Given the description of an element on the screen output the (x, y) to click on. 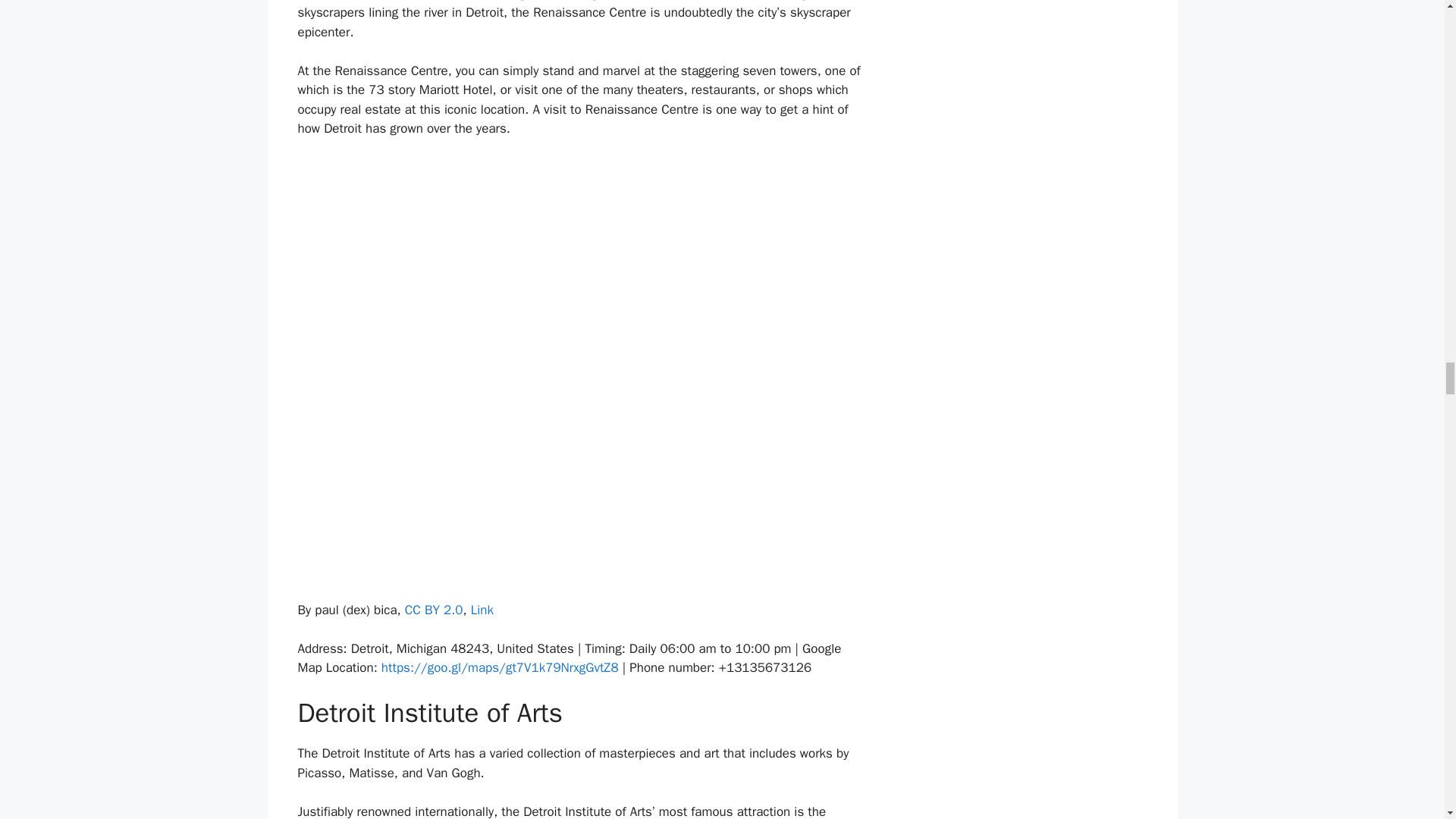
Creative Commons Attribution 2.0 (433, 609)
